Given the description of an element on the screen output the (x, y) to click on. 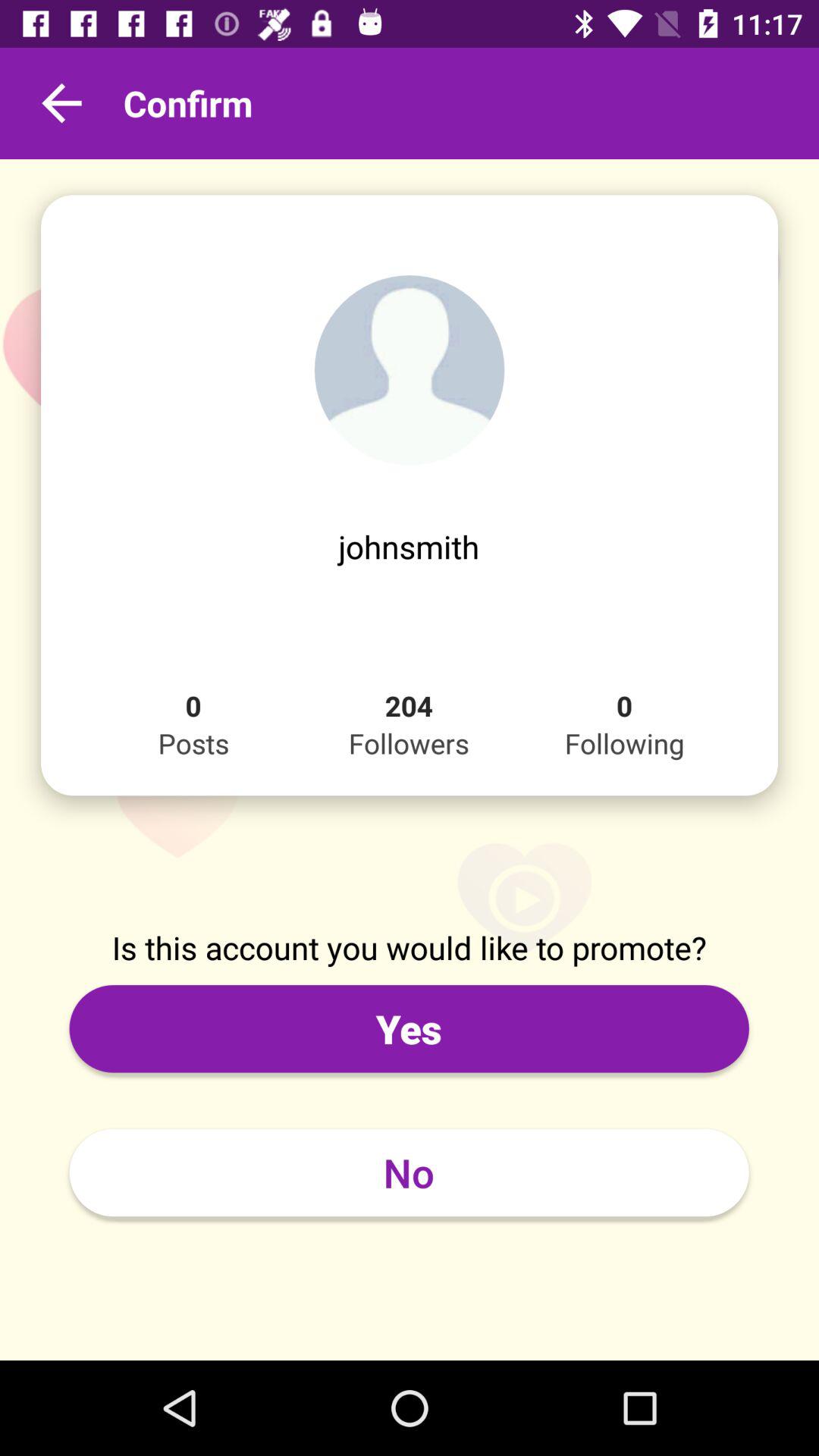
open no item (409, 1172)
